Given the description of an element on the screen output the (x, y) to click on. 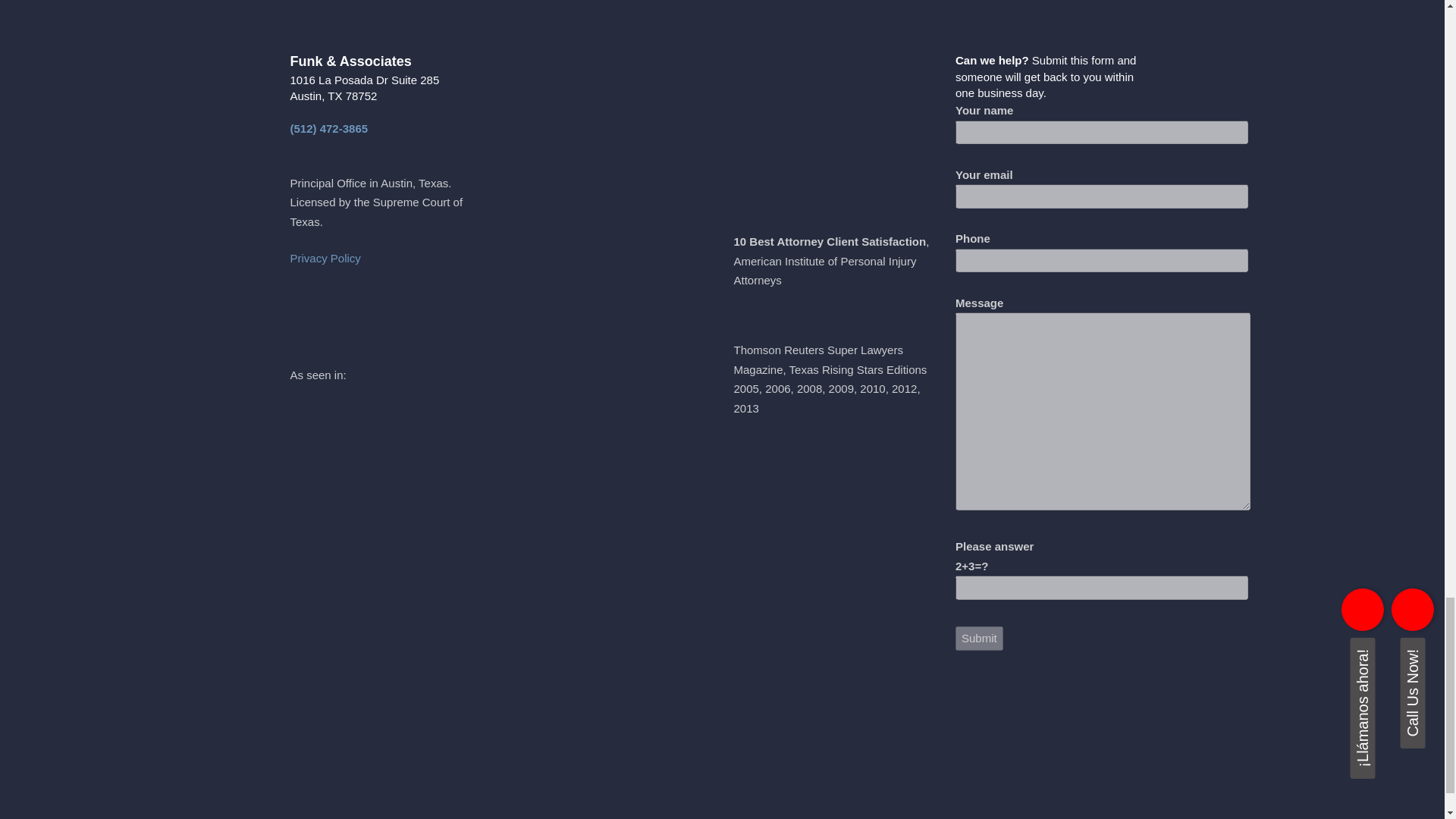
Submit (979, 638)
